Given the description of an element on the screen output the (x, y) to click on. 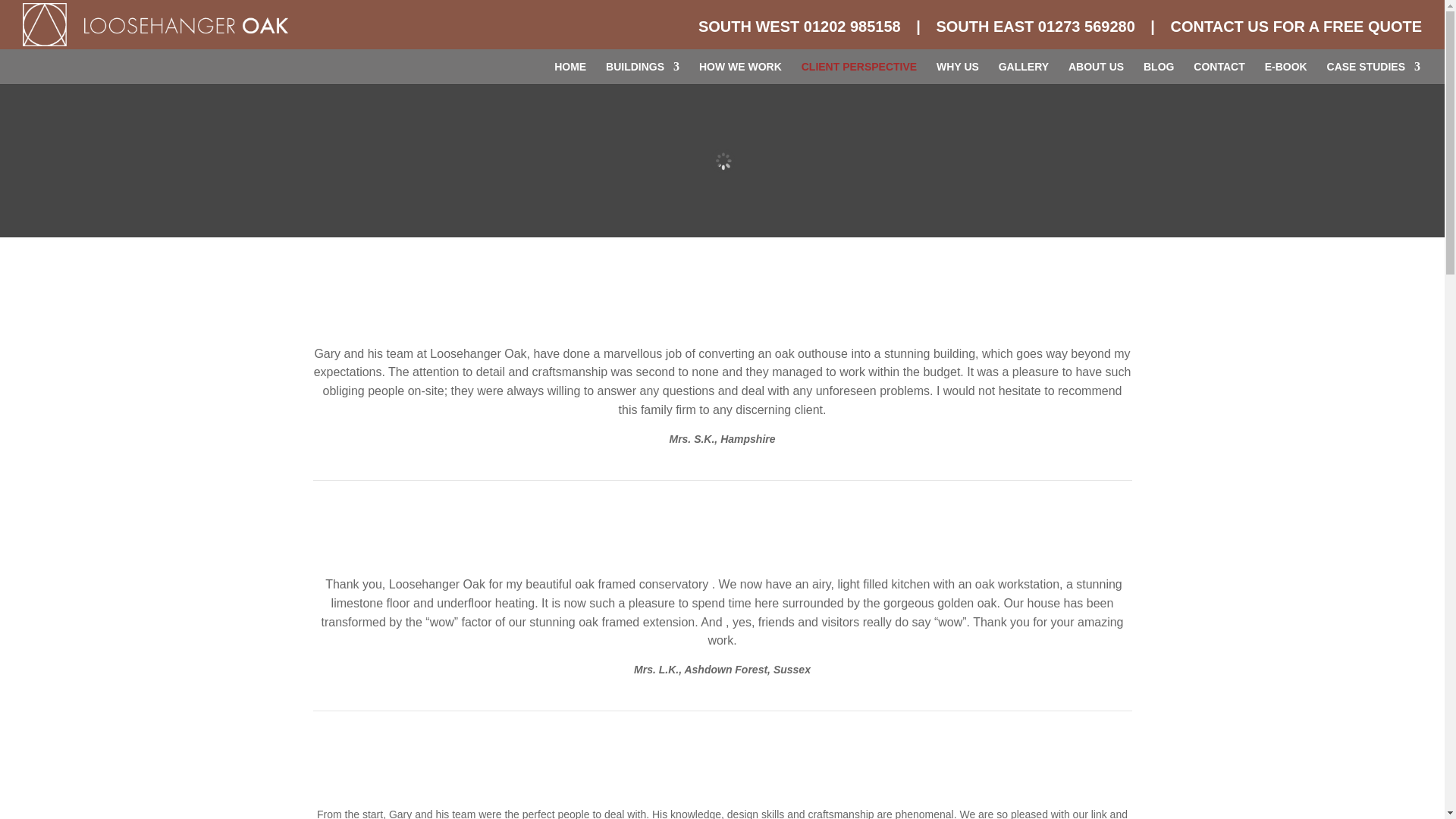
ABOUT US (1096, 72)
CASE STUDIES (1373, 72)
CLIENT PERSPECTIVE (859, 72)
BLOG (1157, 72)
WHY US (957, 72)
GALLERY (1023, 72)
BUILDINGS (642, 72)
CONTACT (1218, 72)
E-BOOK (1286, 72)
HOW WE WORK (739, 72)
